Given the description of an element on the screen output the (x, y) to click on. 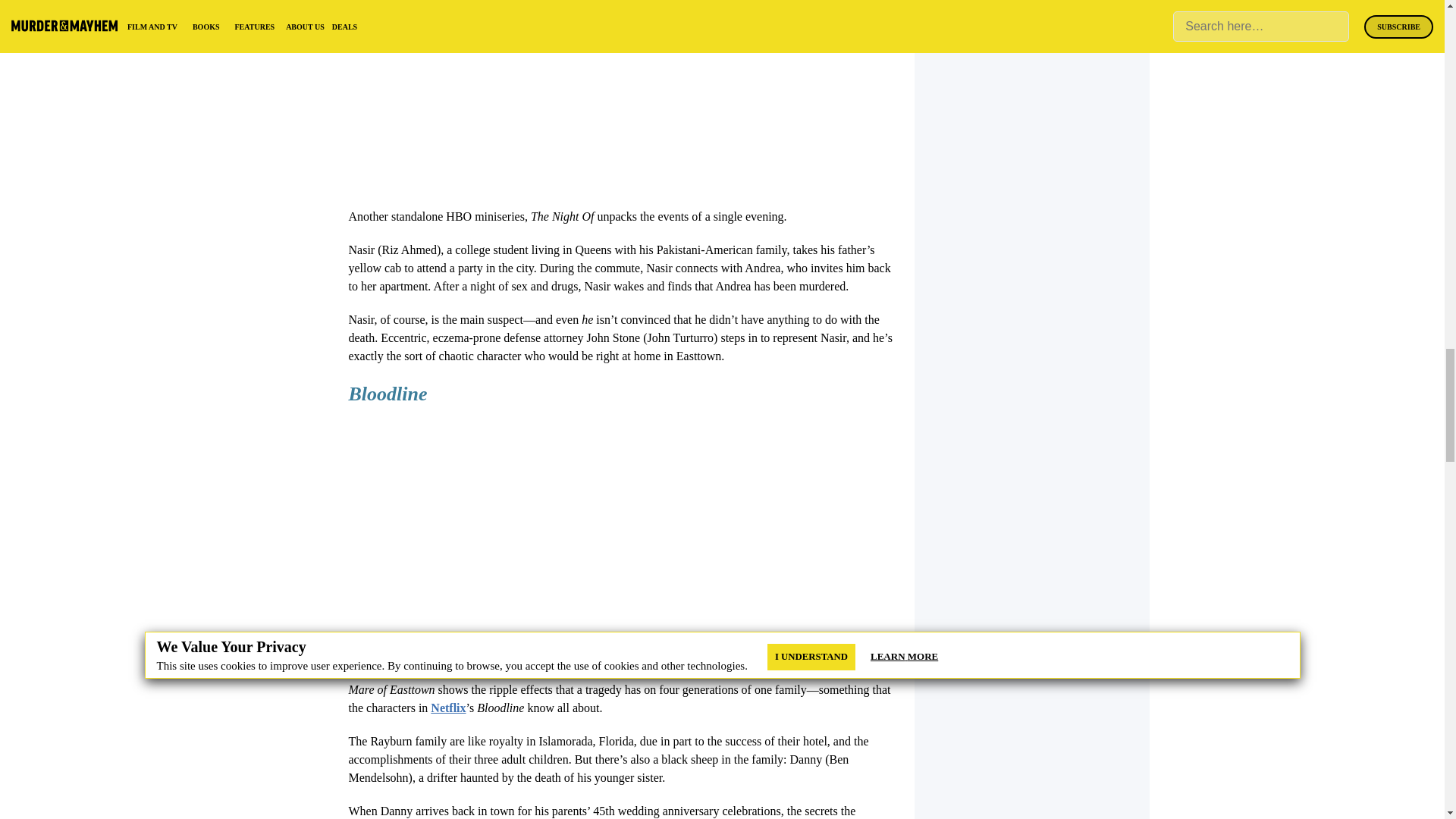
YouTube video player (561, 538)
Netflix (447, 707)
YouTube video player (561, 92)
